Given the description of an element on the screen output the (x, y) to click on. 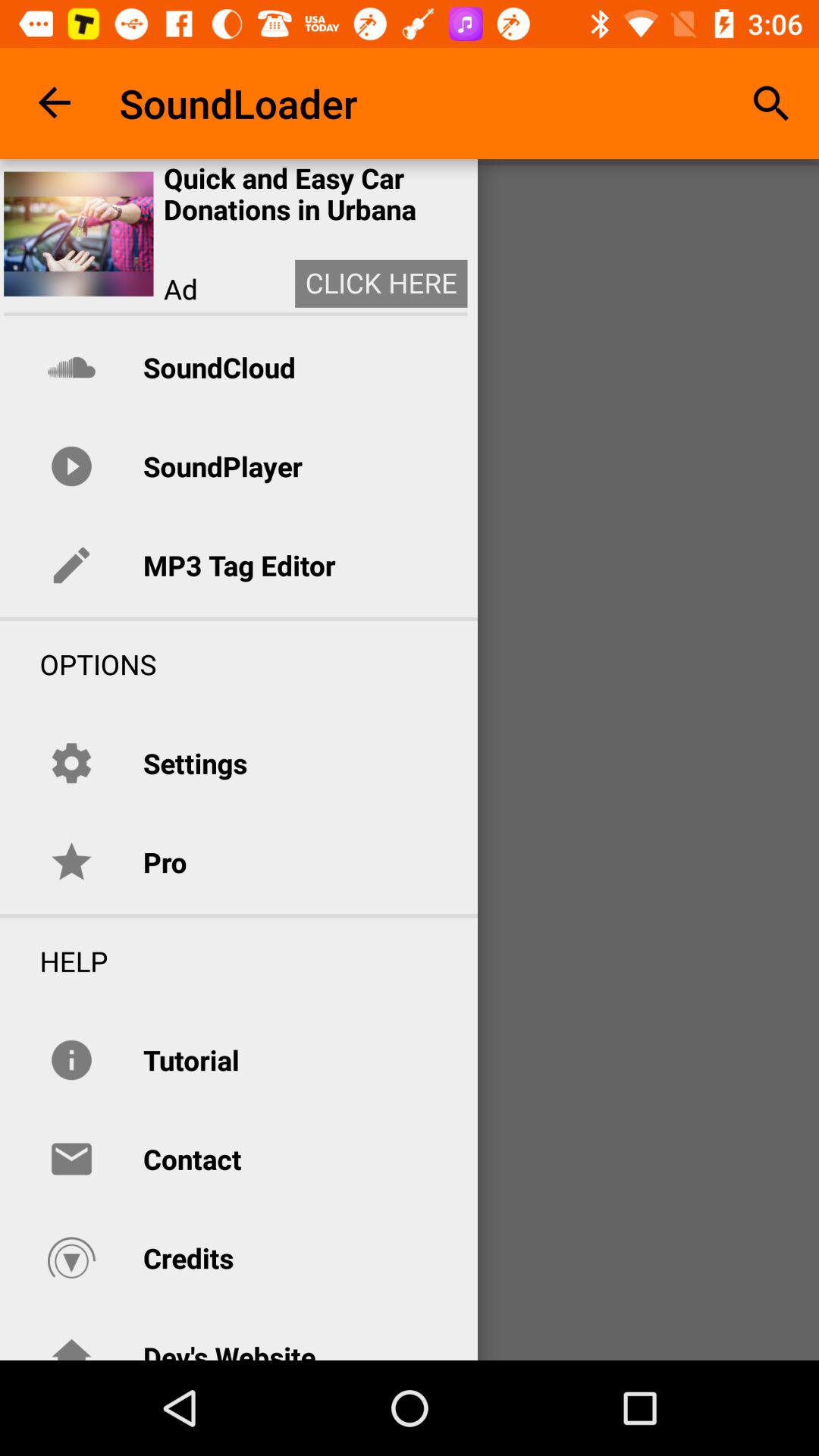
turn on the contact icon (192, 1158)
